Given the description of an element on the screen output the (x, y) to click on. 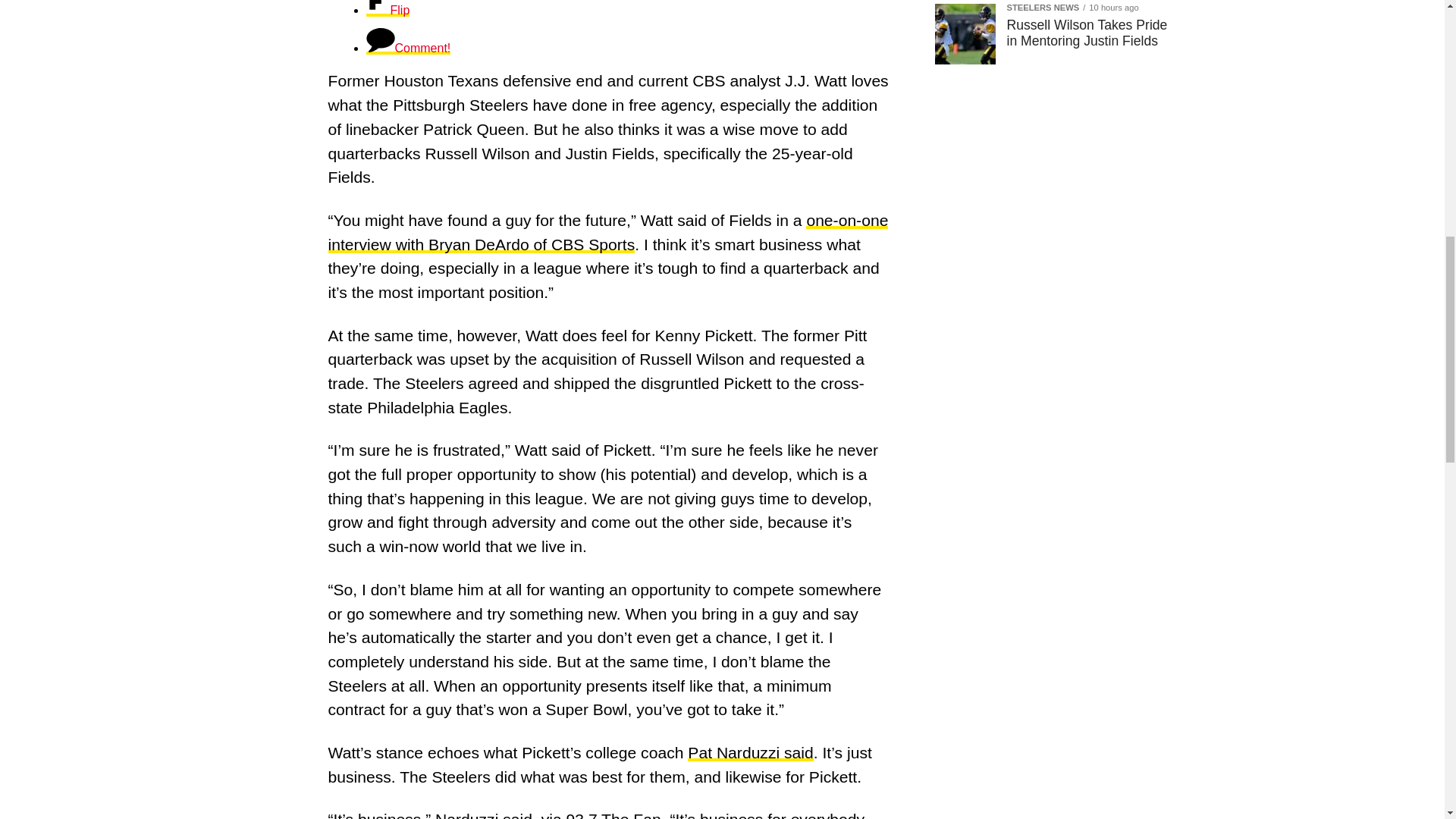
Share on Comment! (407, 47)
Share on Flip (387, 10)
